Given the description of an element on the screen output the (x, y) to click on. 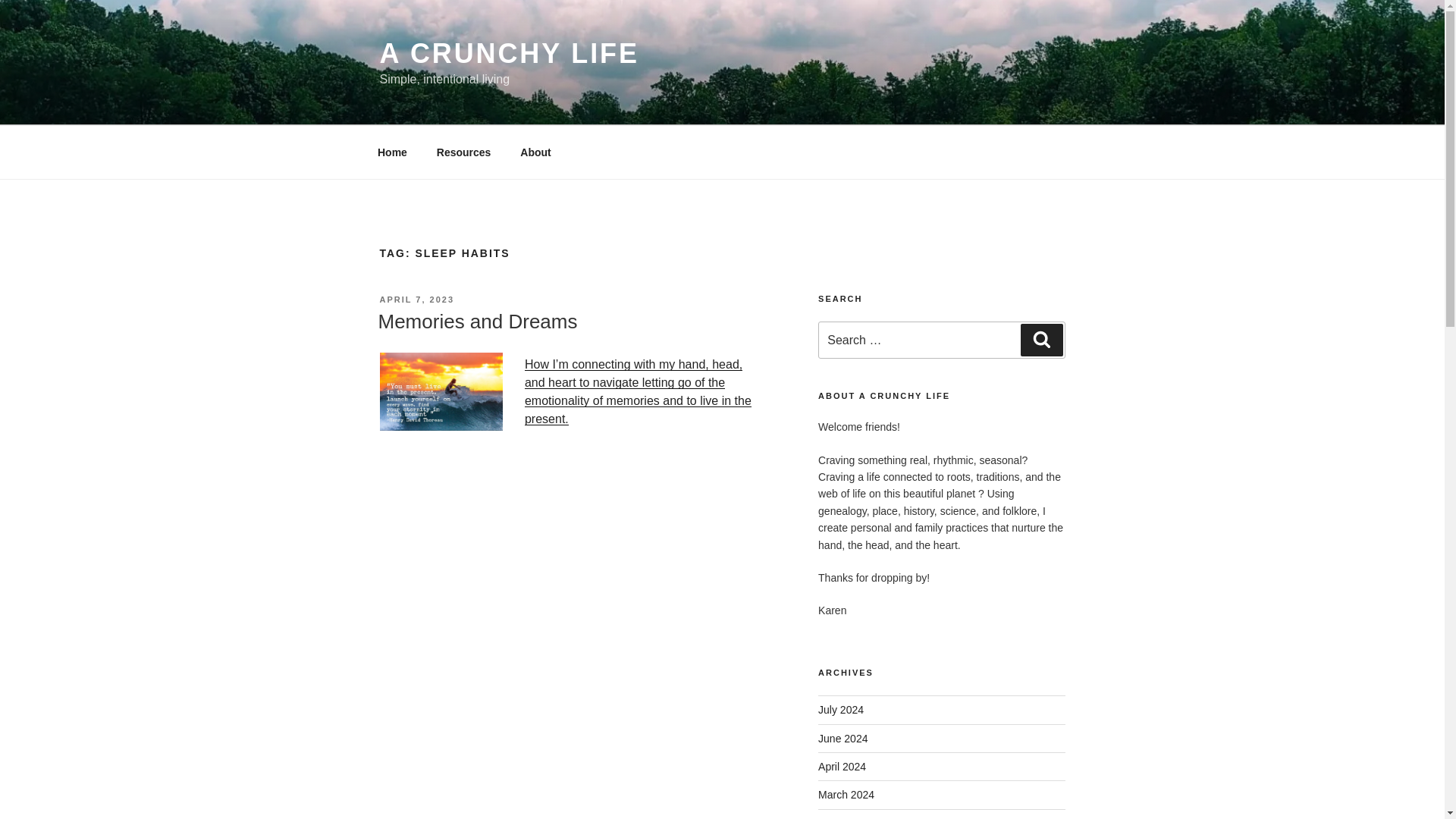
Search (1041, 339)
Memories and Dreams (476, 321)
March 2024 (846, 794)
APRIL 7, 2023 (416, 298)
April 2024 (842, 766)
July 2024 (840, 709)
June 2024 (842, 738)
Resources (463, 151)
February 2024 (852, 818)
Home (392, 151)
A CRUNCHY LIFE (508, 52)
About (535, 151)
